Given the description of an element on the screen output the (x, y) to click on. 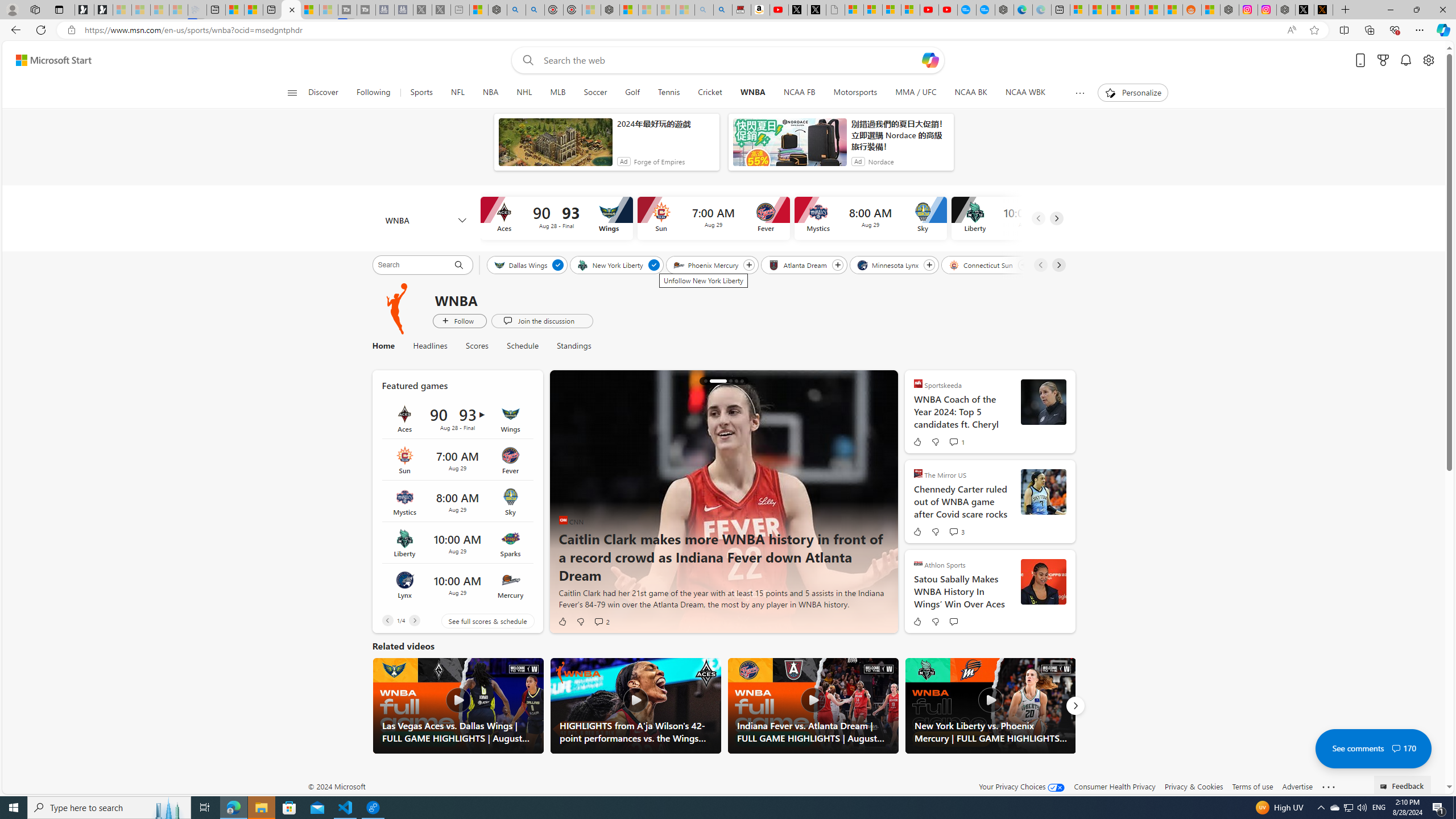
X - Sleeping (440, 9)
Liberty vs Sparks Time 10:00 AM Date Aug 29 (456, 543)
Skip to footer (46, 59)
Next (1074, 705)
amazon - Search - Sleeping (703, 9)
Mystics vs Sky Time 8:00 AM Date Aug 29 (456, 501)
NCAA FB (799, 92)
NFL (457, 92)
